Given the description of an element on the screen output the (x, y) to click on. 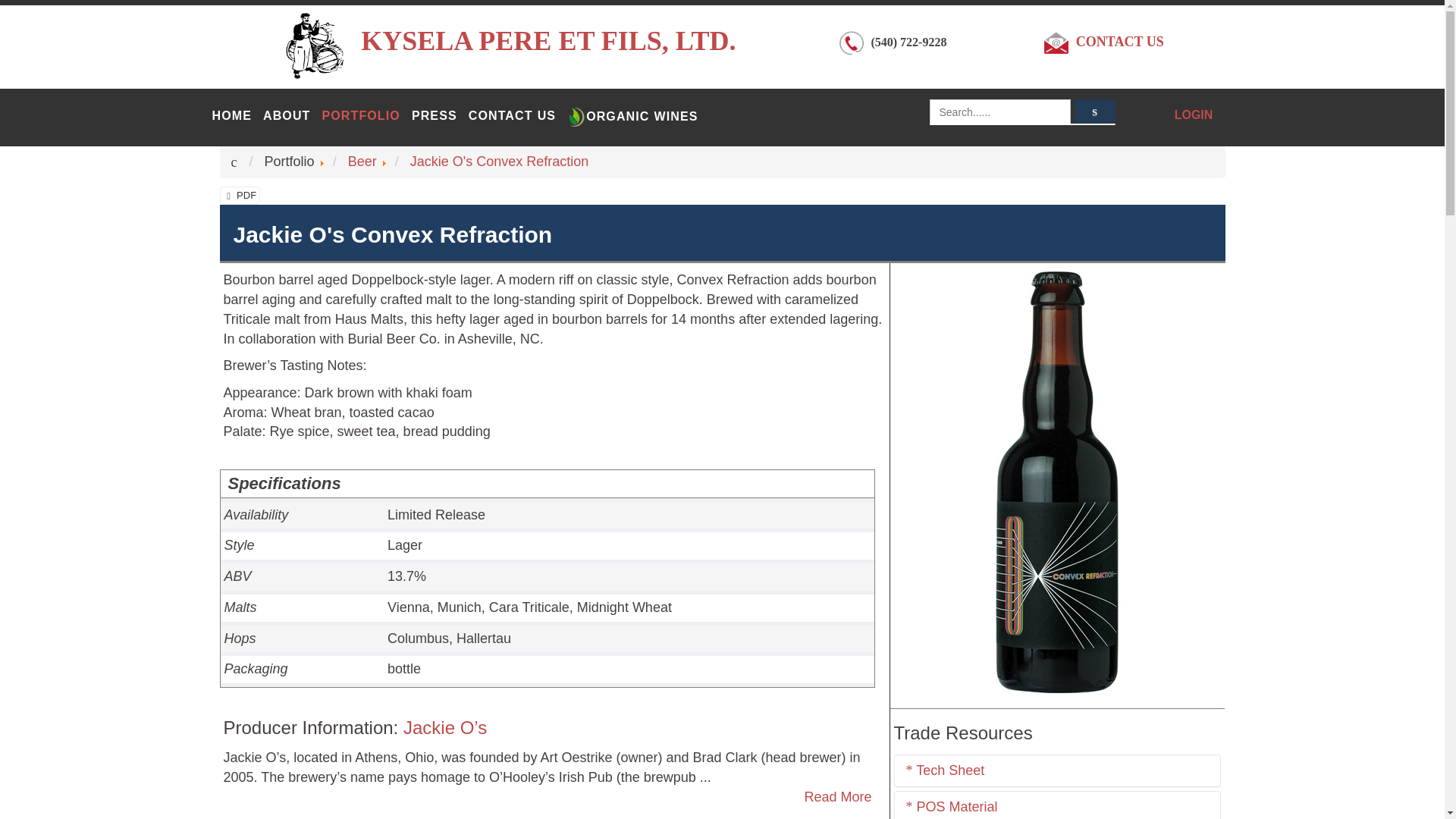
Search...... (1000, 112)
KYSELA PERE ET FILS, LTD. (548, 40)
ORGANIC WINES (632, 117)
LOGIN (1193, 114)
CONTACT US (512, 116)
HOME (231, 116)
Beer (362, 160)
Jackie O's Convex Refraction (499, 160)
ABOUT (286, 116)
PDF (239, 195)
CONTACT US (1119, 41)
PORTFOLIO (359, 116)
Read More (836, 796)
PRESS (434, 116)
Search...... (1000, 112)
